Given the description of an element on the screen output the (x, y) to click on. 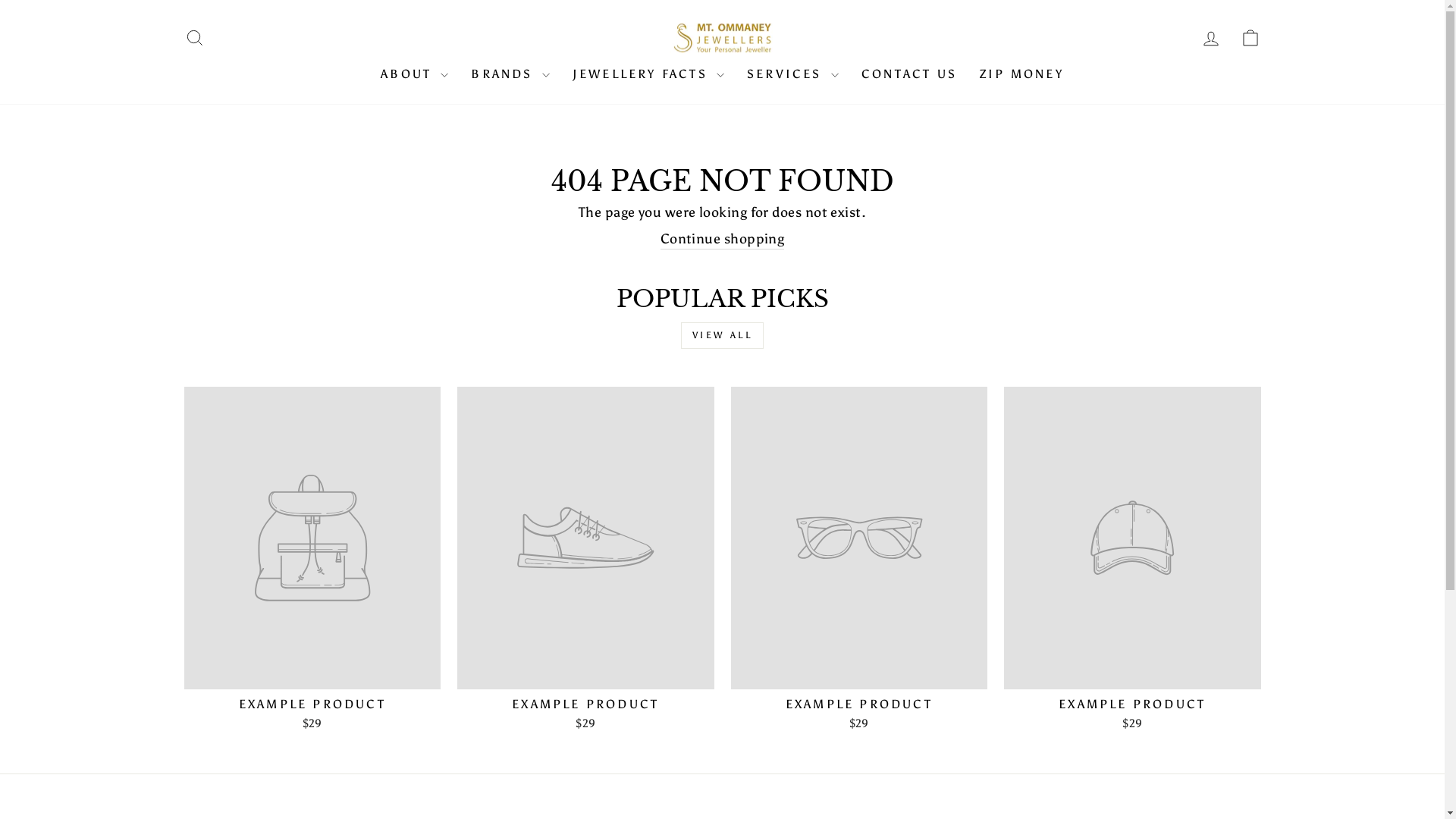
EXAMPLE PRODUCT
$29 Element type: text (1132, 560)
ICON-BAG-MINIMAL
CART Element type: text (1249, 37)
EXAMPLE PRODUCT
$29 Element type: text (585, 560)
Continue shopping Element type: text (722, 239)
ZIP MONEY Element type: text (1021, 74)
EXAMPLE PRODUCT
$29 Element type: text (311, 560)
VIEW ALL Element type: text (722, 335)
EXAMPLE PRODUCT
$29 Element type: text (859, 560)
CONTACT US Element type: text (909, 74)
ICON-SEARCH
SEARCH Element type: text (193, 37)
ACCOUNT
LOG IN Element type: text (1210, 37)
